Given the description of an element on the screen output the (x, y) to click on. 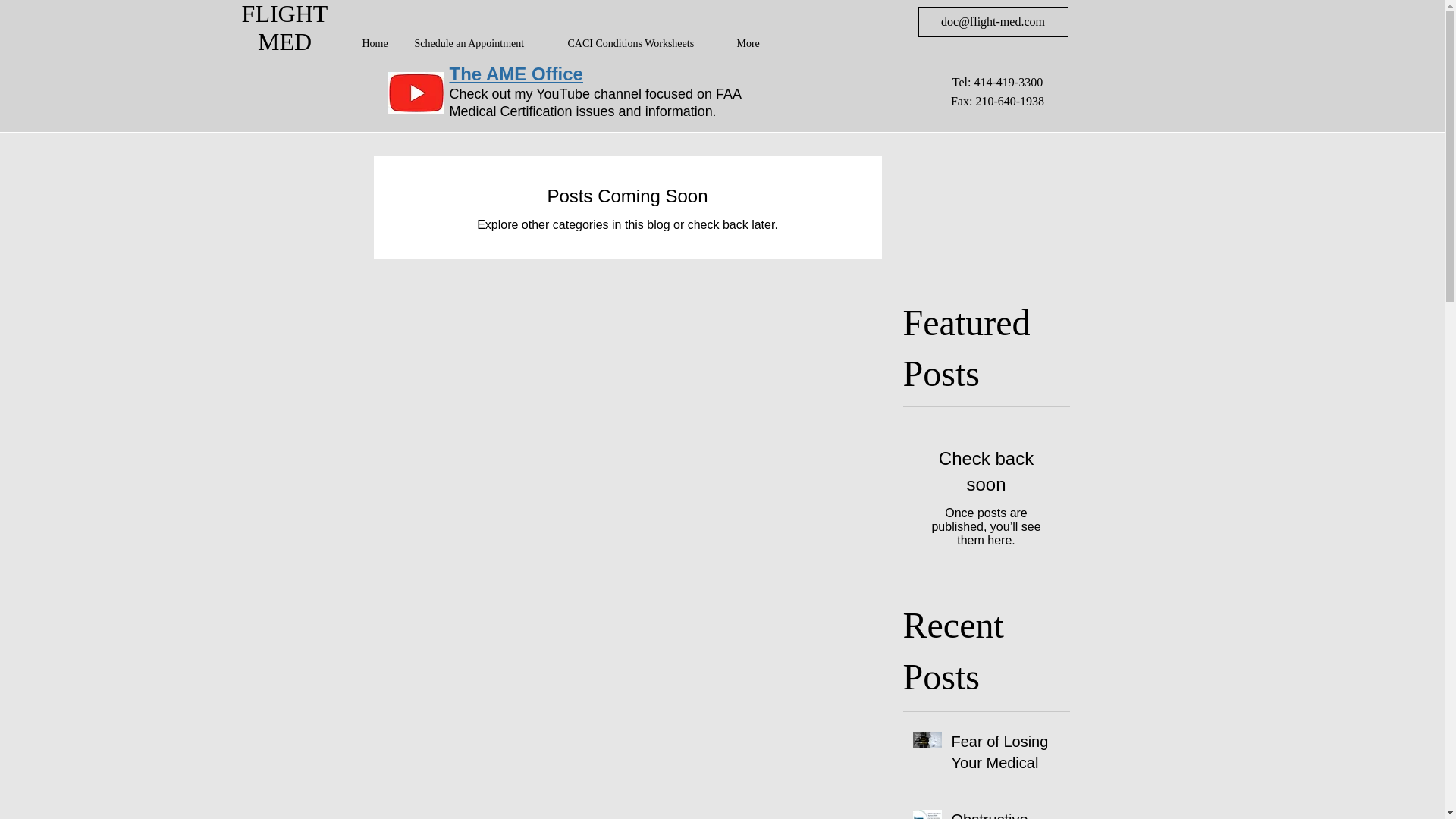
Obstructive Sleep Apnea (1004, 814)
Home (376, 43)
YouTube.jpg (415, 92)
The AME Office (515, 74)
Schedule an Appointment (479, 43)
Fear of Losing Your Medical (1004, 755)
CACI Conditions Worksheets (640, 43)
